Given the description of an element on the screen output the (x, y) to click on. 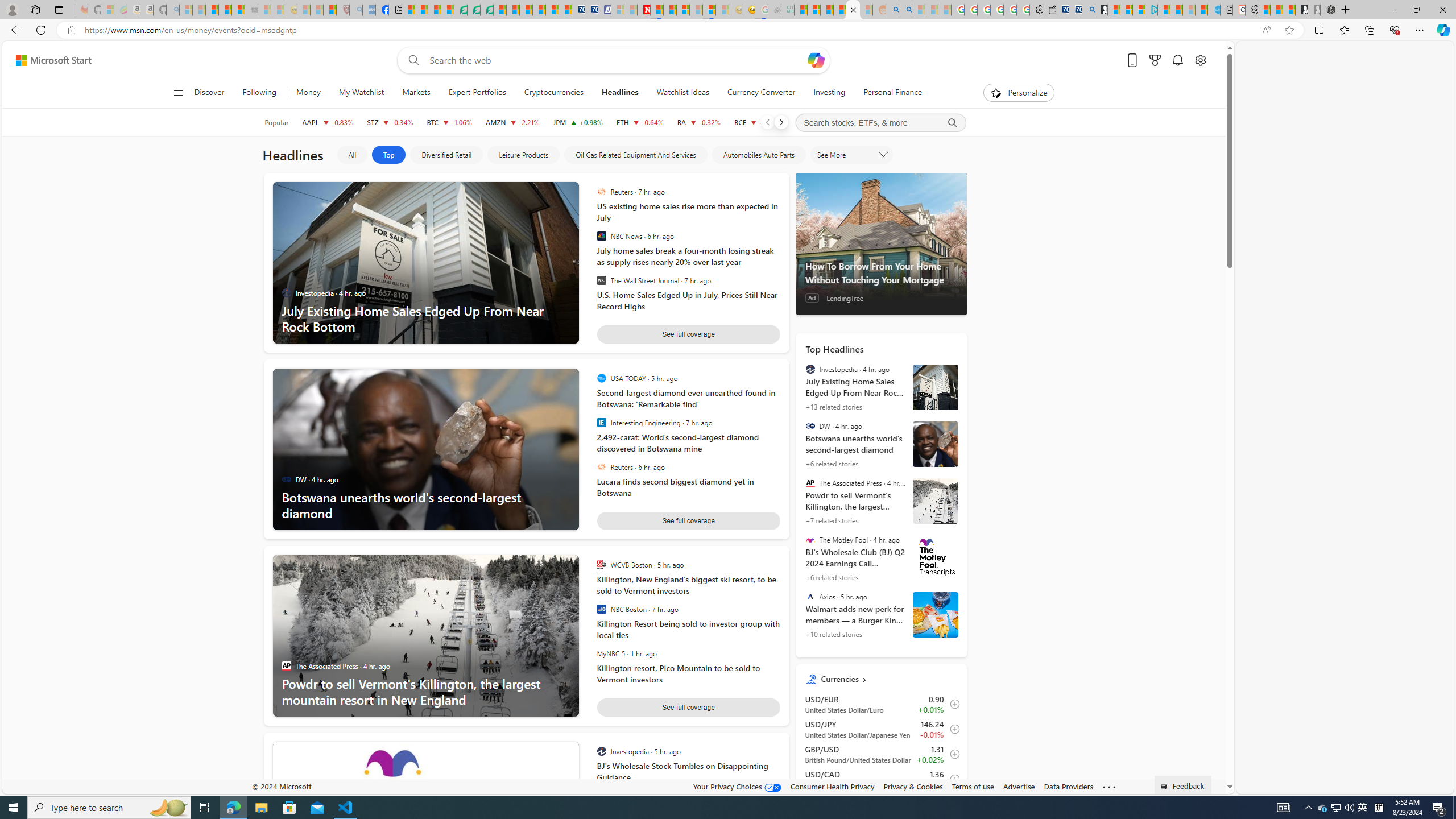
NBC Boston 7 hr. ago (685, 609)
Class: feedback_link_icon-DS-EntryPoint1-1 (1165, 786)
Feedback (1182, 784)
The Associated Press 4 hr. ago (342, 665)
Open navigation menu (177, 92)
My Watchlist (360, 92)
